Given the description of an element on the screen output the (x, y) to click on. 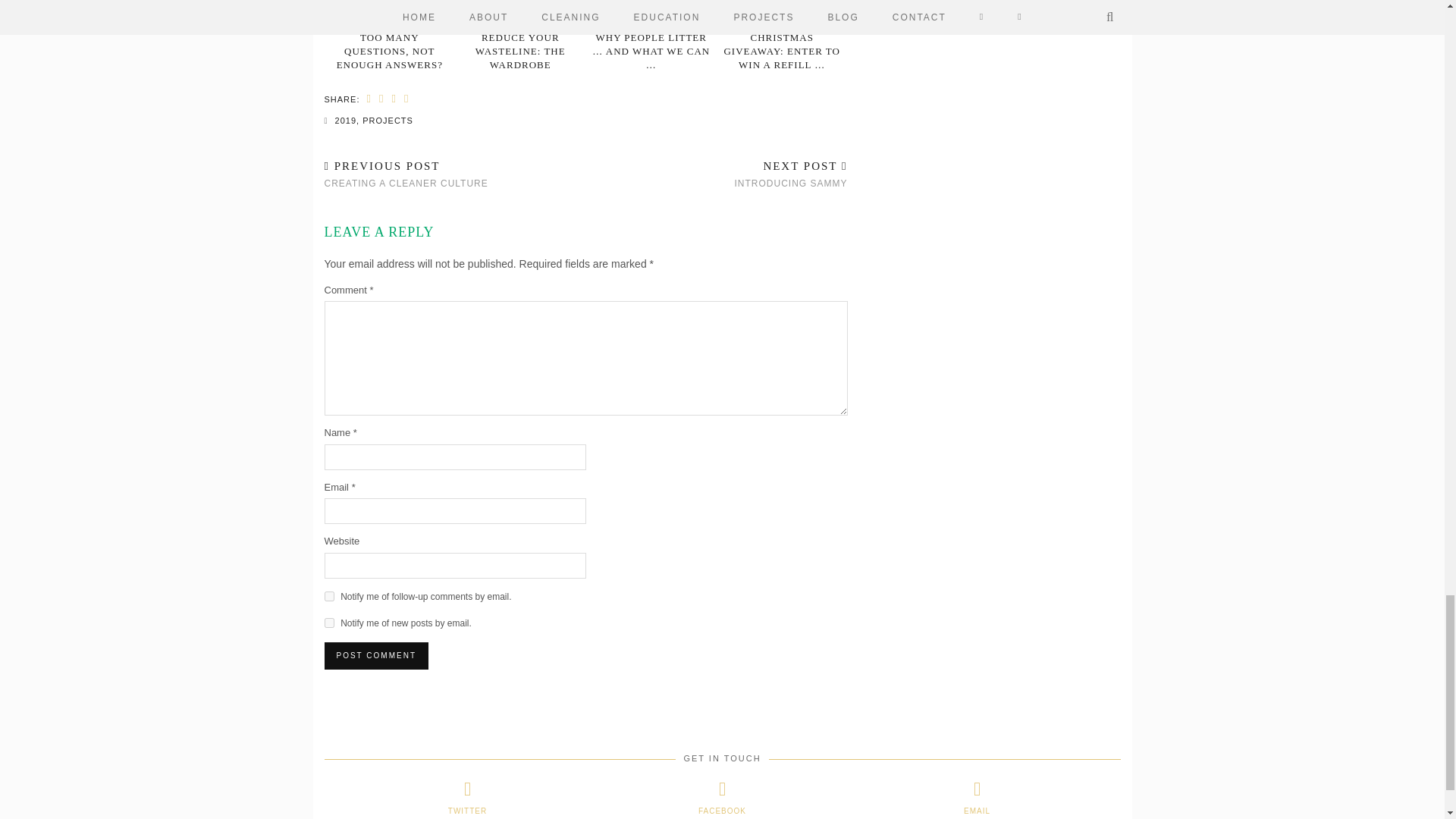
Post Comment (376, 655)
Reduce Your Wasteline: The Wardrobe (521, 50)
Too many questions, not enough answers? (389, 13)
Too many questions, not enough answers? (389, 50)
subscribe (329, 623)
subscribe (329, 596)
Reduce Your Wasteline: The Wardrobe (520, 13)
